Given the description of an element on the screen output the (x, y) to click on. 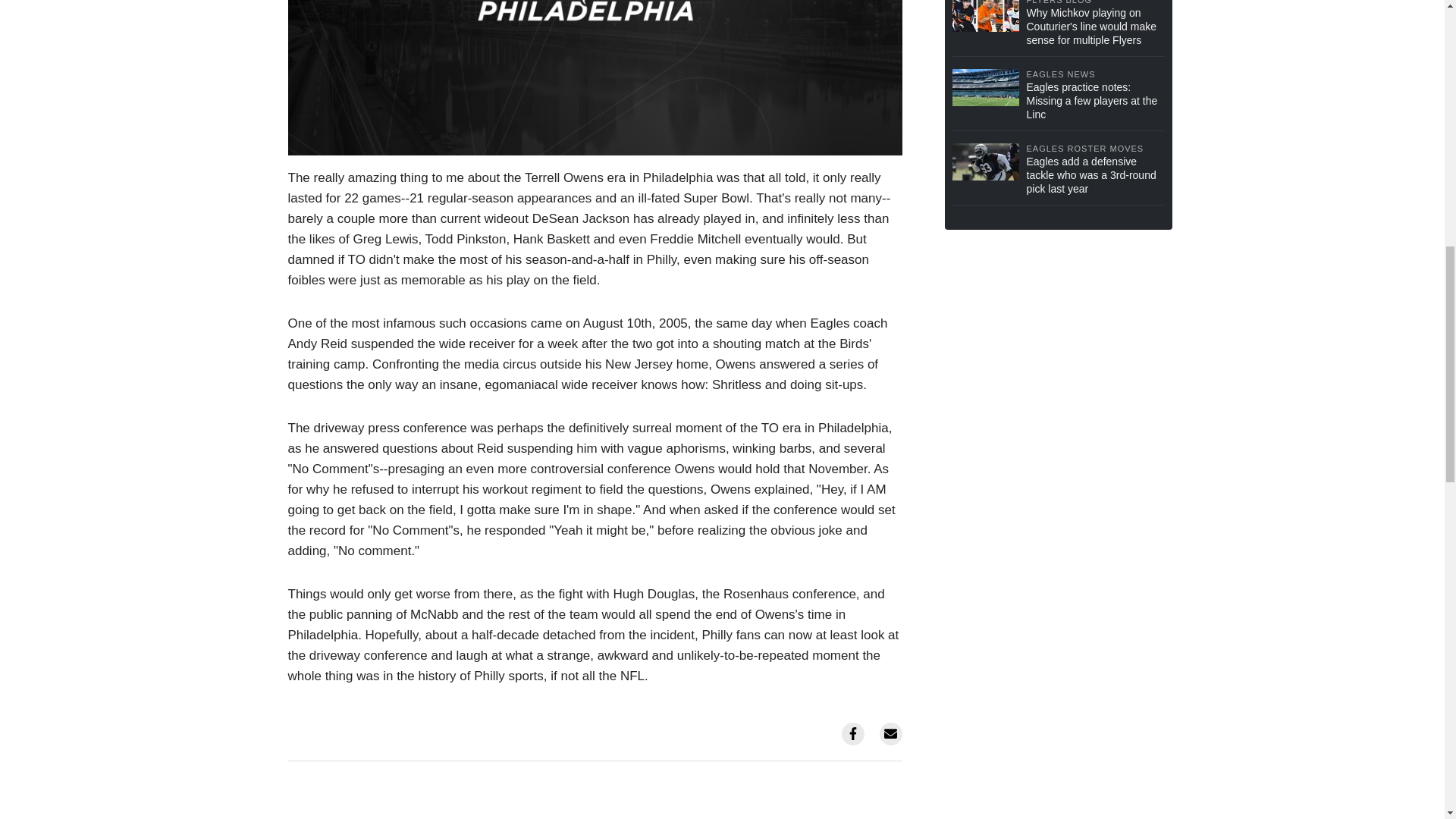
EAGLES ROSTER MOVES (1095, 148)
Eagles practice notes: Missing a few players at the Linc (1095, 100)
FLYERS BLOG (1095, 2)
EAGLES NEWS (1095, 74)
